Given the description of an element on the screen output the (x, y) to click on. 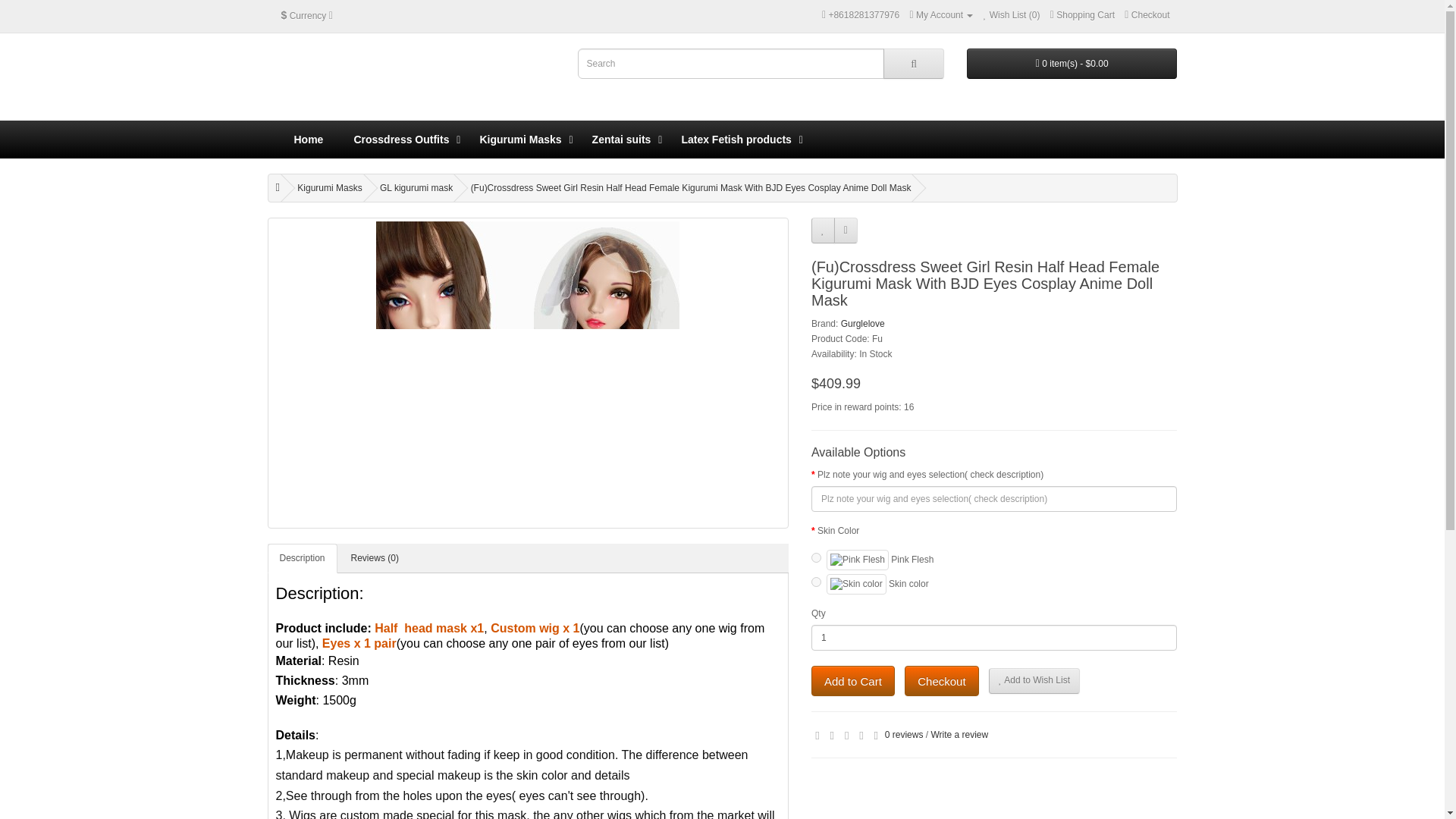
Crossdress Outfits (400, 139)
Kigurumi Masks (520, 139)
GL kigurumi mask (416, 187)
1564 (815, 582)
Compare this Product (845, 230)
Checkout (1146, 14)
myfetish-store.com (387, 80)
Checkout (1146, 14)
Add to Wish List (1034, 680)
Kigurumi Masks (329, 187)
Latex Fetish products (735, 139)
Home (309, 139)
My Account (942, 14)
Add to Wish List (822, 230)
Zentai suits (621, 139)
